Given the description of an element on the screen output the (x, y) to click on. 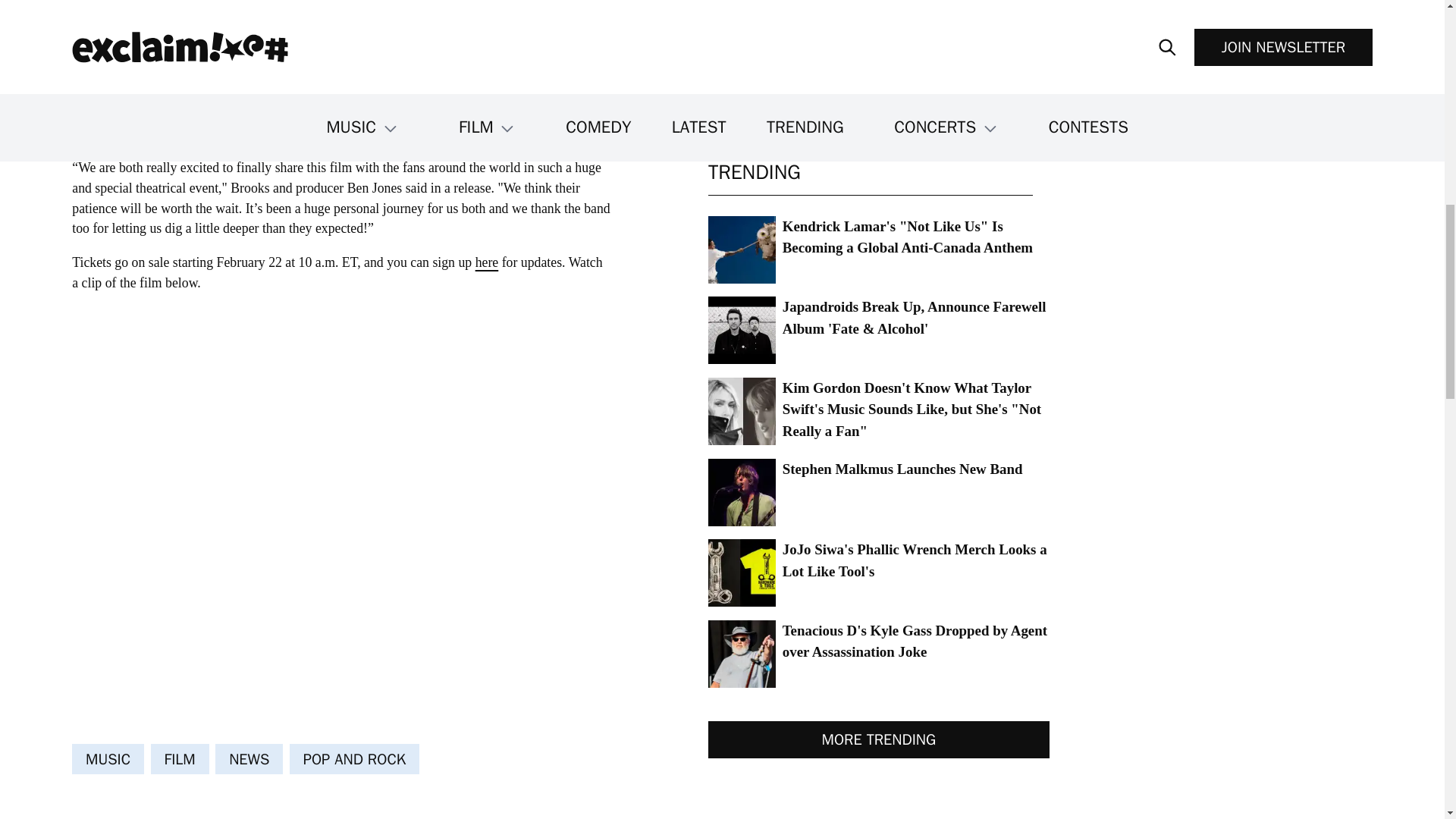
here (487, 262)
FILM (180, 758)
MORE TRENDING (878, 739)
NEWS (248, 758)
Leigh Brooks (437, 93)
JoJo Siwa's Phallic Wrench Merch Looks a Lot Like Tool's (878, 572)
Hate to Love: Nickelback (315, 104)
Nickelback (295, 59)
Stephen Malkmus Launches New Band (878, 492)
POP AND ROCK (354, 758)
MUSIC (107, 758)
